Given the description of an element on the screen output the (x, y) to click on. 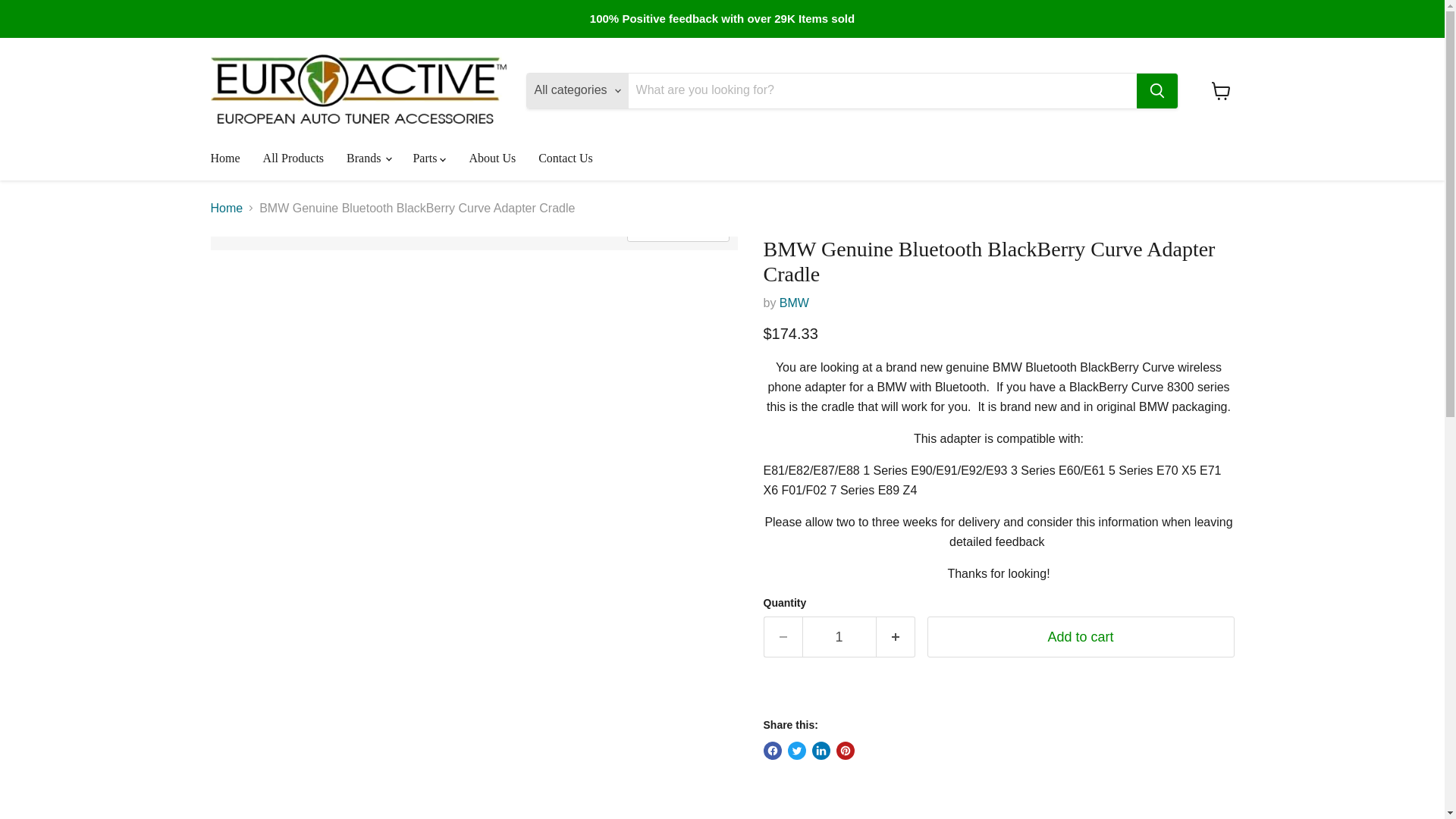
All Products (292, 158)
1 (839, 637)
Home (224, 158)
BMW (793, 302)
View cart (1221, 90)
